Given the description of an element on the screen output the (x, y) to click on. 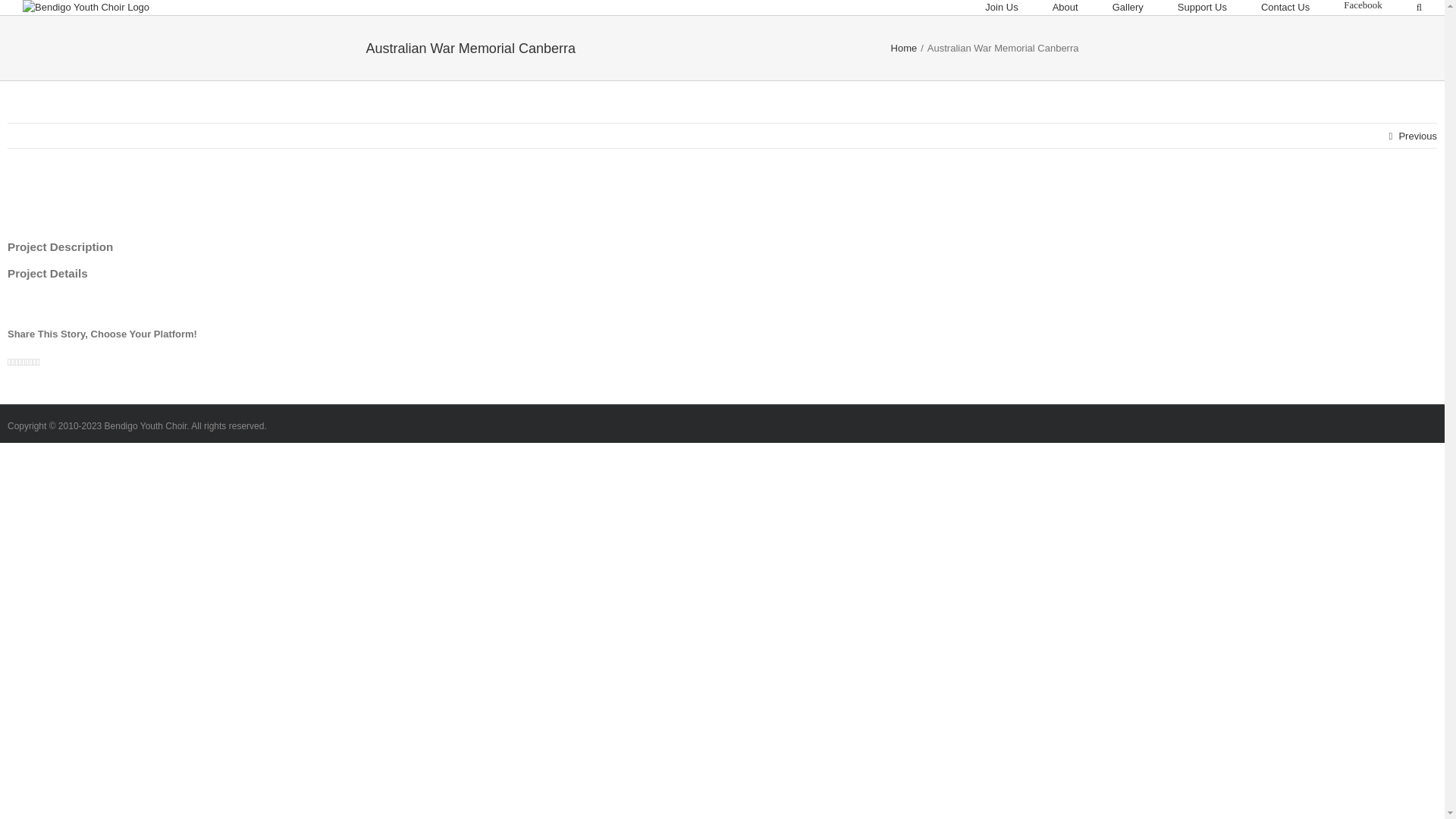
Google+ Element type: text (23, 361)
Vk Element type: text (34, 361)
Previous Element type: text (1417, 136)
Facebook Element type: text (9, 361)
Support Us Element type: text (1201, 7)
Pinterest Element type: text (30, 361)
Linkedin Element type: text (16, 361)
Email Element type: text (38, 361)
Gallery Element type: text (1127, 7)
Tumblr Element type: text (27, 361)
Contact Us Element type: text (1285, 7)
Twitter Element type: text (13, 361)
About Element type: text (1065, 7)
Home Element type: text (904, 47)
Facebook Element type: text (1362, 4)
Reddit Element type: text (19, 361)
Search Element type: hover (1418, 7)
Join Us Element type: text (1001, 7)
